Given the description of an element on the screen output the (x, y) to click on. 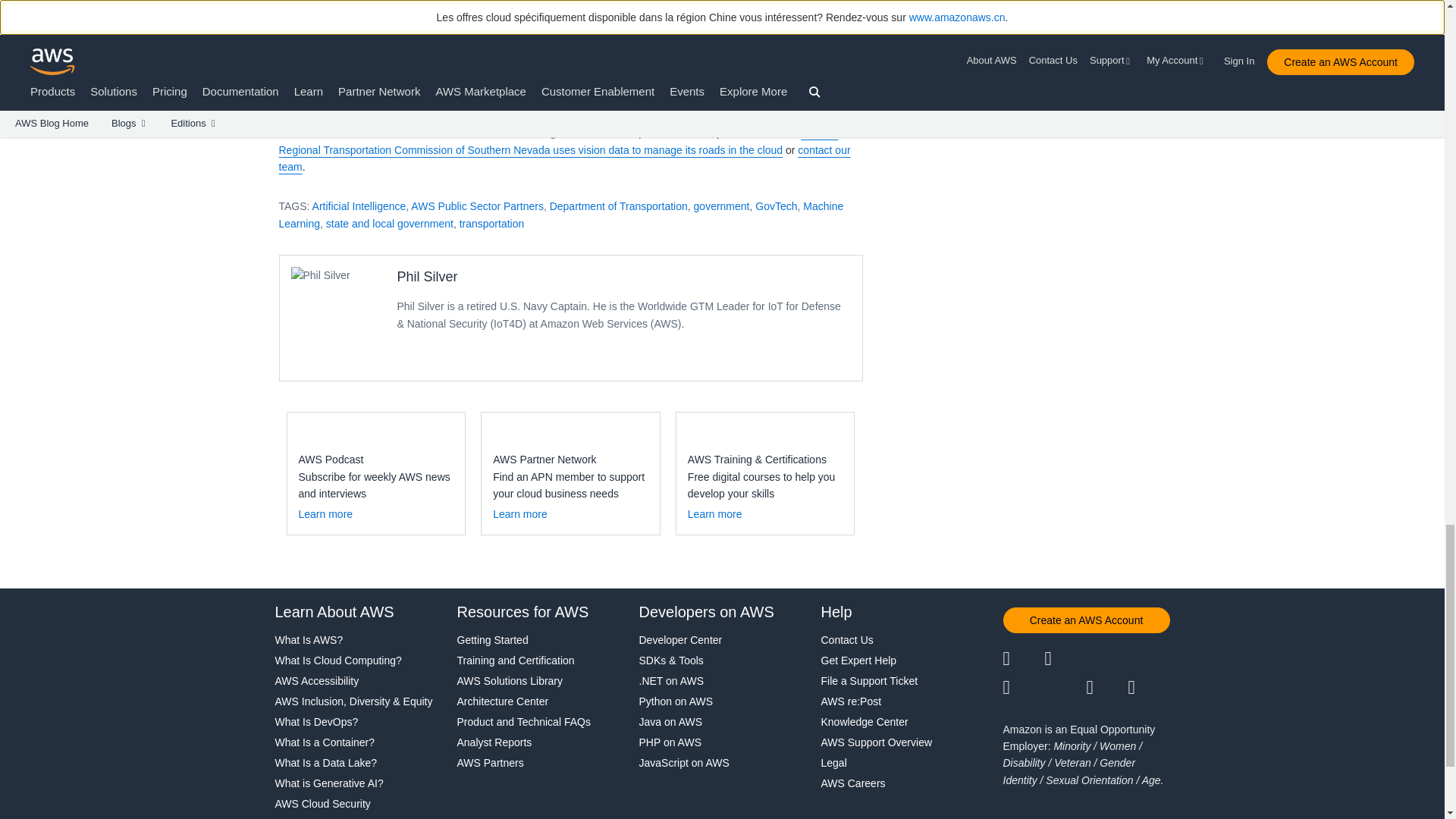
Email (1149, 687)
YouTube (1065, 687)
Twitch (1023, 687)
Twitter (1023, 658)
Linkedin (1106, 658)
Podcast (1106, 687)
Facebook (1065, 658)
Instagram (1149, 658)
